Given the description of an element on the screen output the (x, y) to click on. 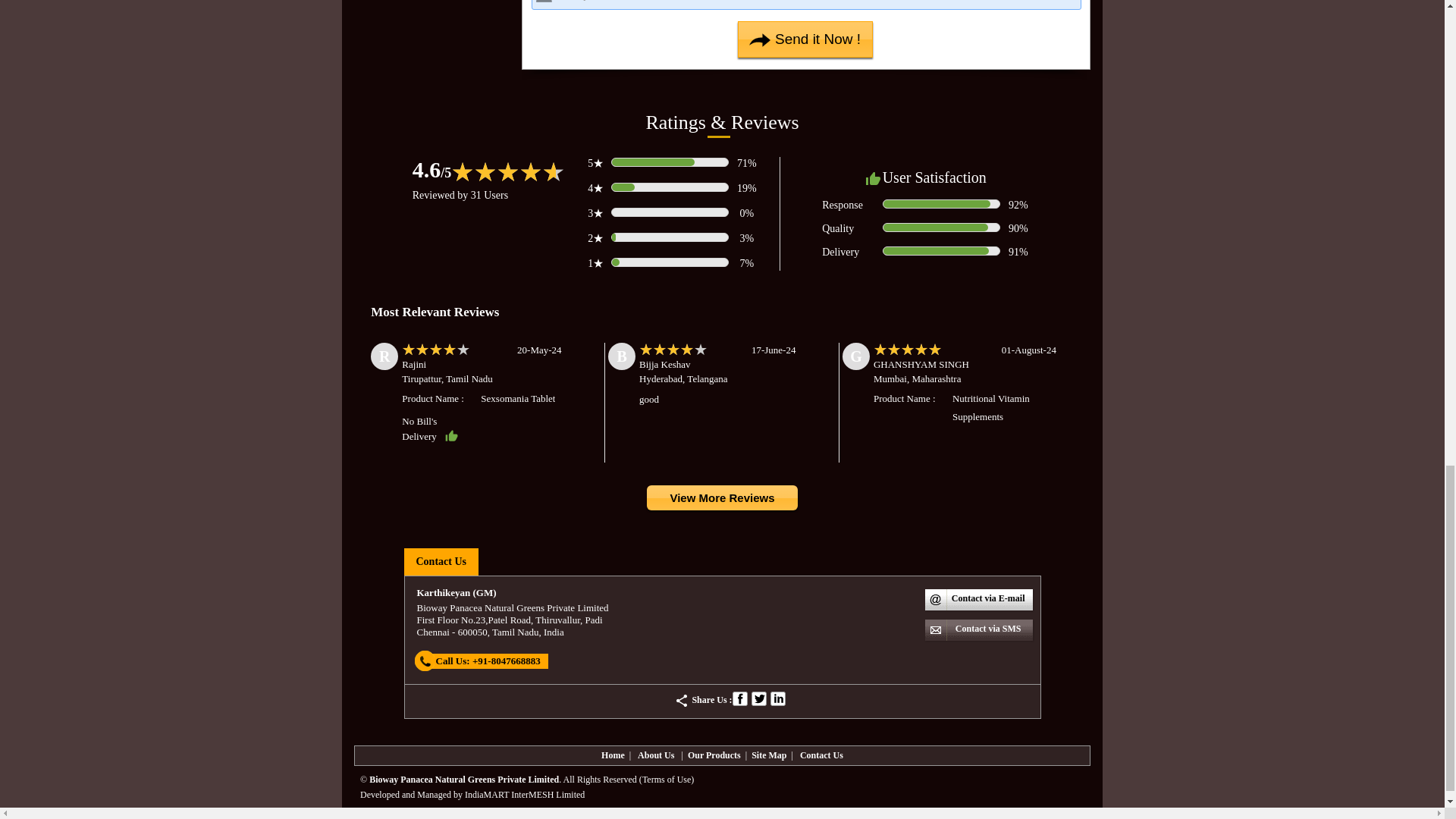
Enter your name: (806, 4)
Send it Now ! (805, 39)
4.6 out of 5 Votes (431, 169)
Send it Now ! (805, 39)
